Given the description of an element on the screen output the (x, y) to click on. 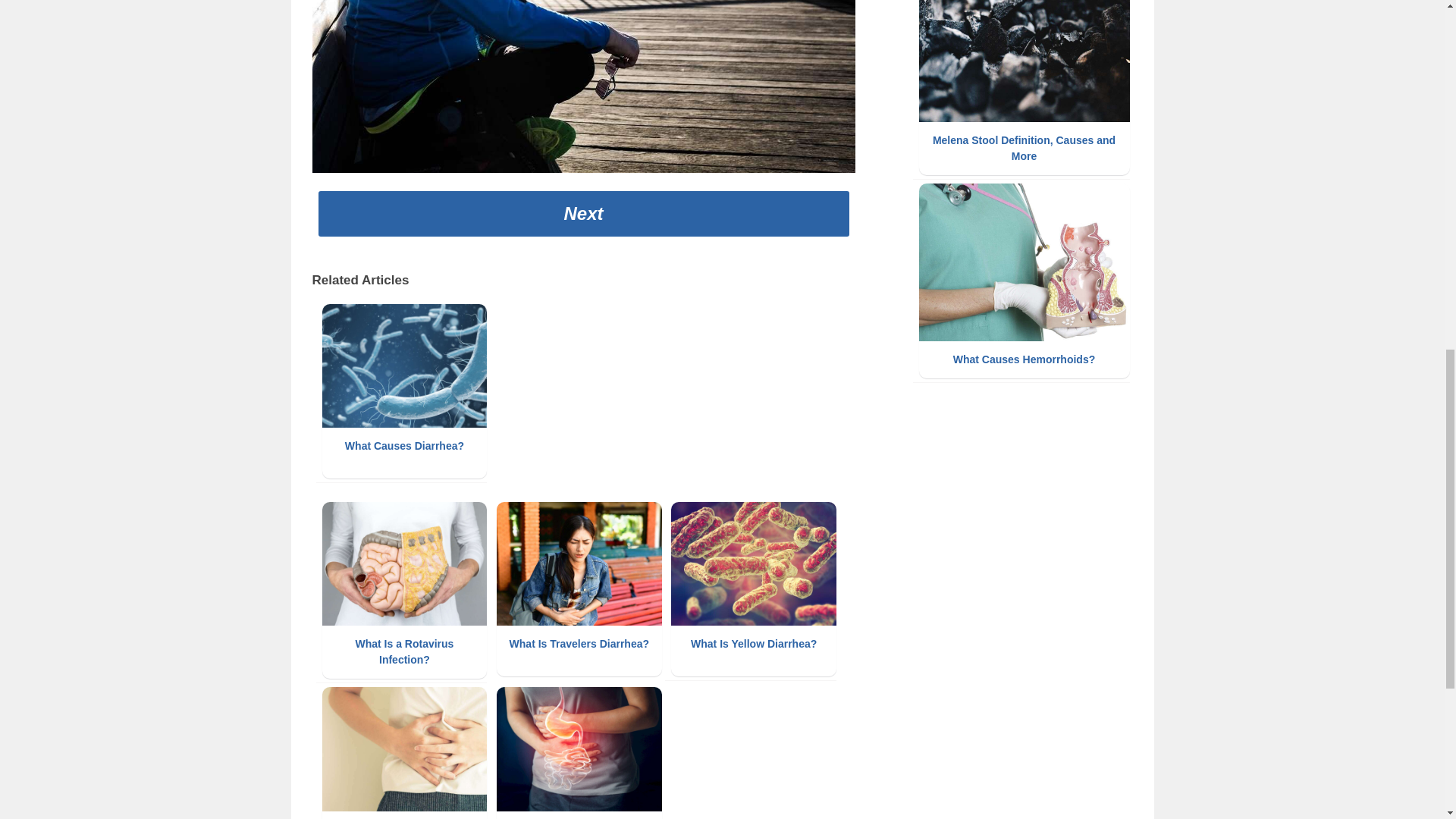
What Is a Rotavirus Infection? (403, 590)
What Is Yellow Diarrhea? (753, 589)
What Causes Hemorrhoids? (1023, 281)
What Causes Diarrhea? (403, 390)
What Is Travelers Diarrhea? (579, 589)
Melena Stool Definition, Causes and More (1023, 87)
What Is Giardiasis? (403, 753)
What Is Gastroenteritis? (579, 753)
